Given the description of an element on the screen output the (x, y) to click on. 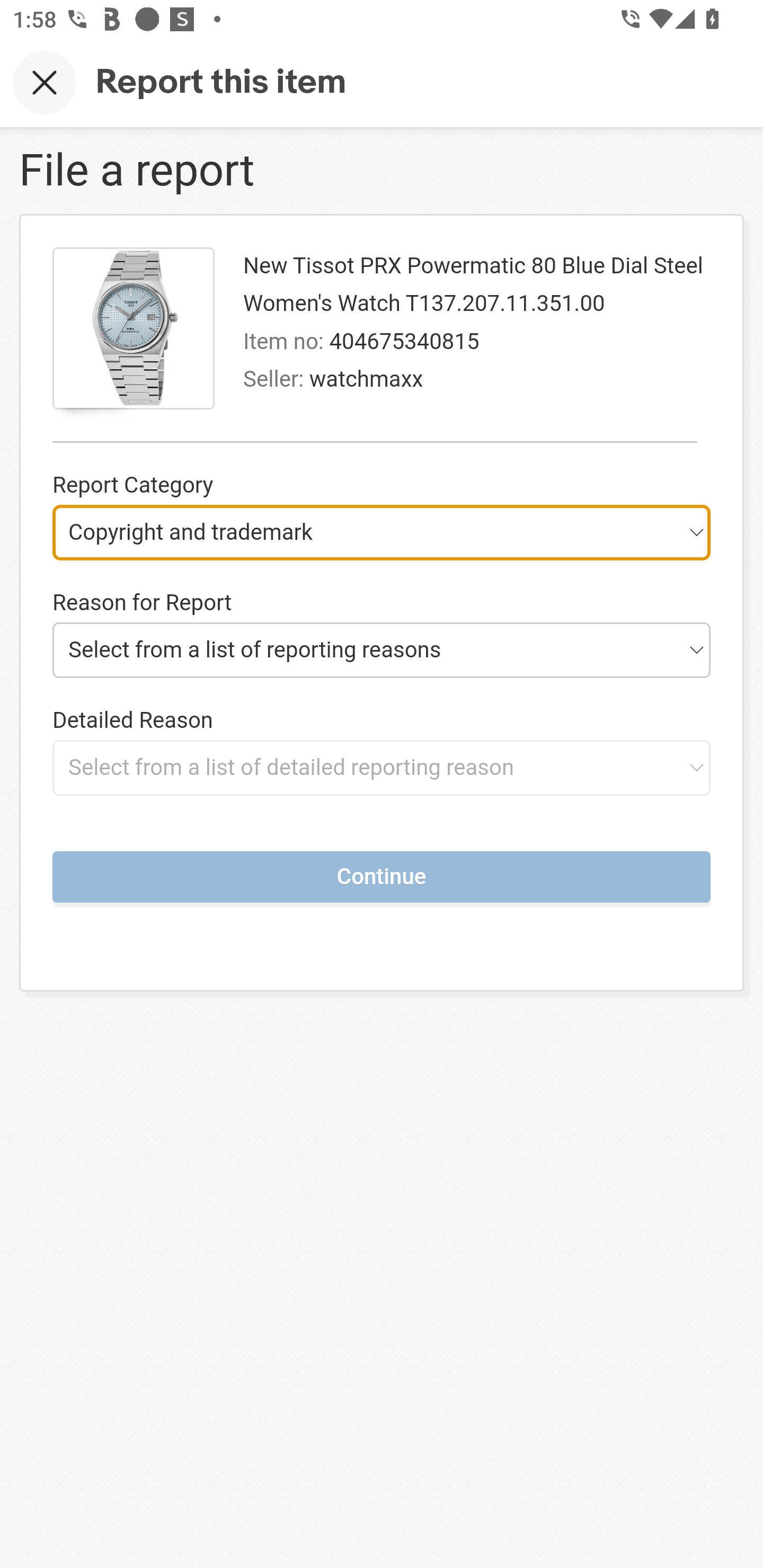
Close (44, 82)
Copyright and trademark (381, 532)
Select from a list of reporting reasons (381, 649)
Select from a list of detailed reporting reason (381, 767)
Continue (381, 876)
